Given the description of an element on the screen output the (x, y) to click on. 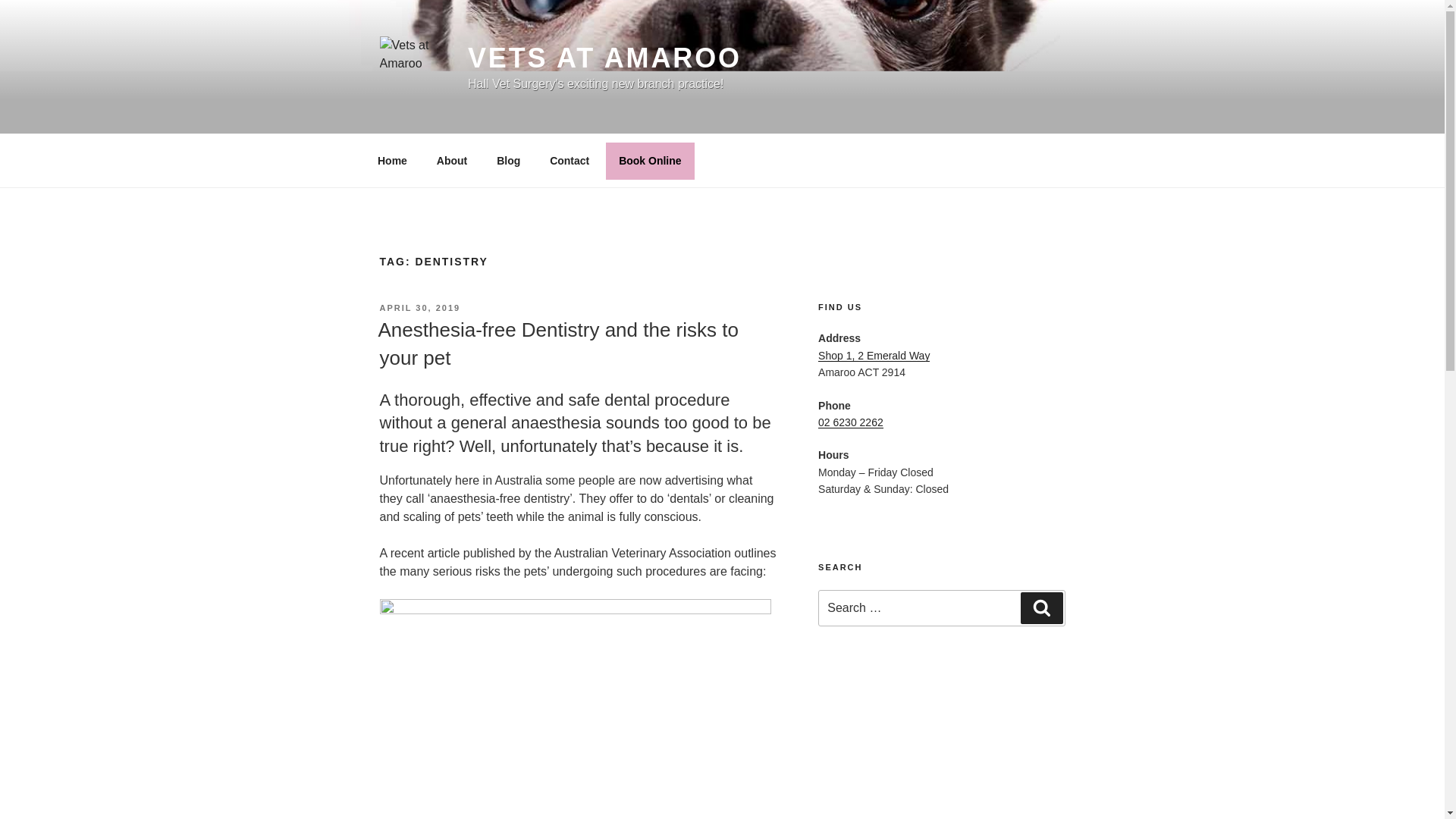
Shop 1, 2 Emerald Way (874, 355)
About (451, 160)
VETS AT AMAROO (604, 57)
Book Online (649, 160)
Anesthesia-free Dentistry and the risks to your pet (557, 343)
Contact (569, 160)
Home (392, 160)
Search (1041, 608)
APRIL 30, 2019 (419, 307)
Blog (508, 160)
02 6230 2262 (850, 422)
